Given the description of an element on the screen output the (x, y) to click on. 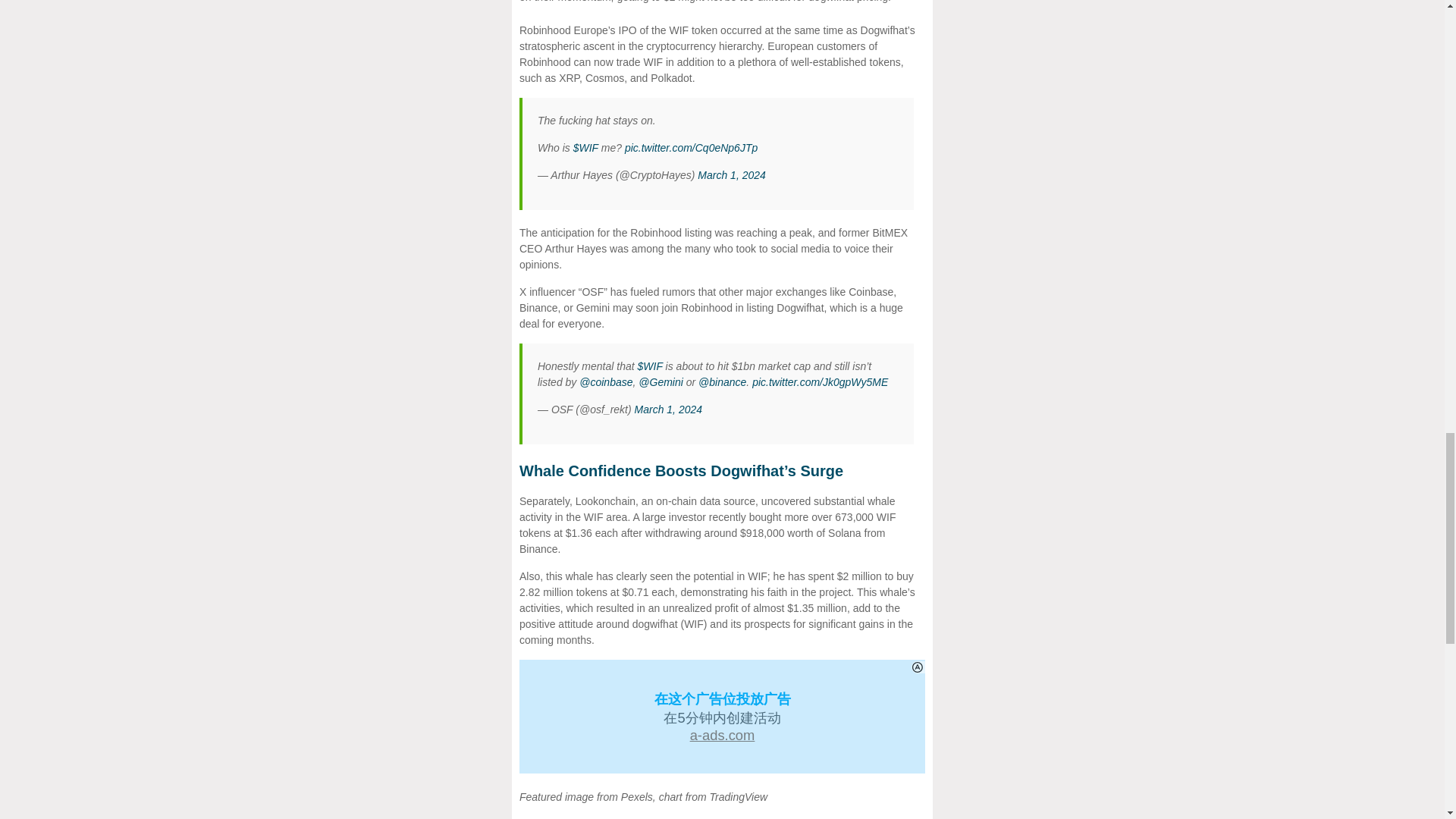
March 1, 2024 (731, 174)
March 1, 2024 (668, 409)
